Given the description of an element on the screen output the (x, y) to click on. 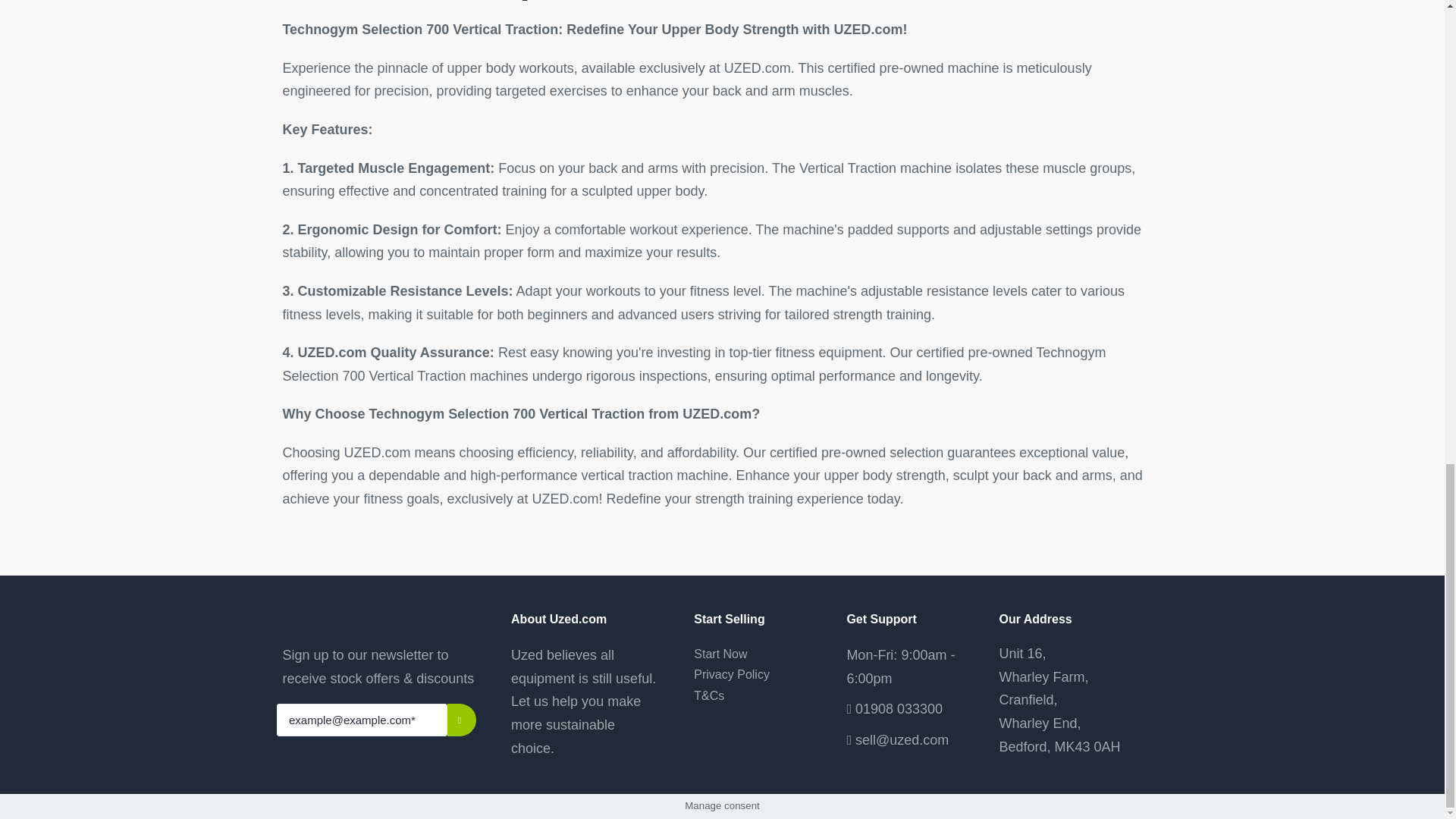
Start Now (752, 653)
Privacy Policy (752, 674)
